Given the description of an element on the screen output the (x, y) to click on. 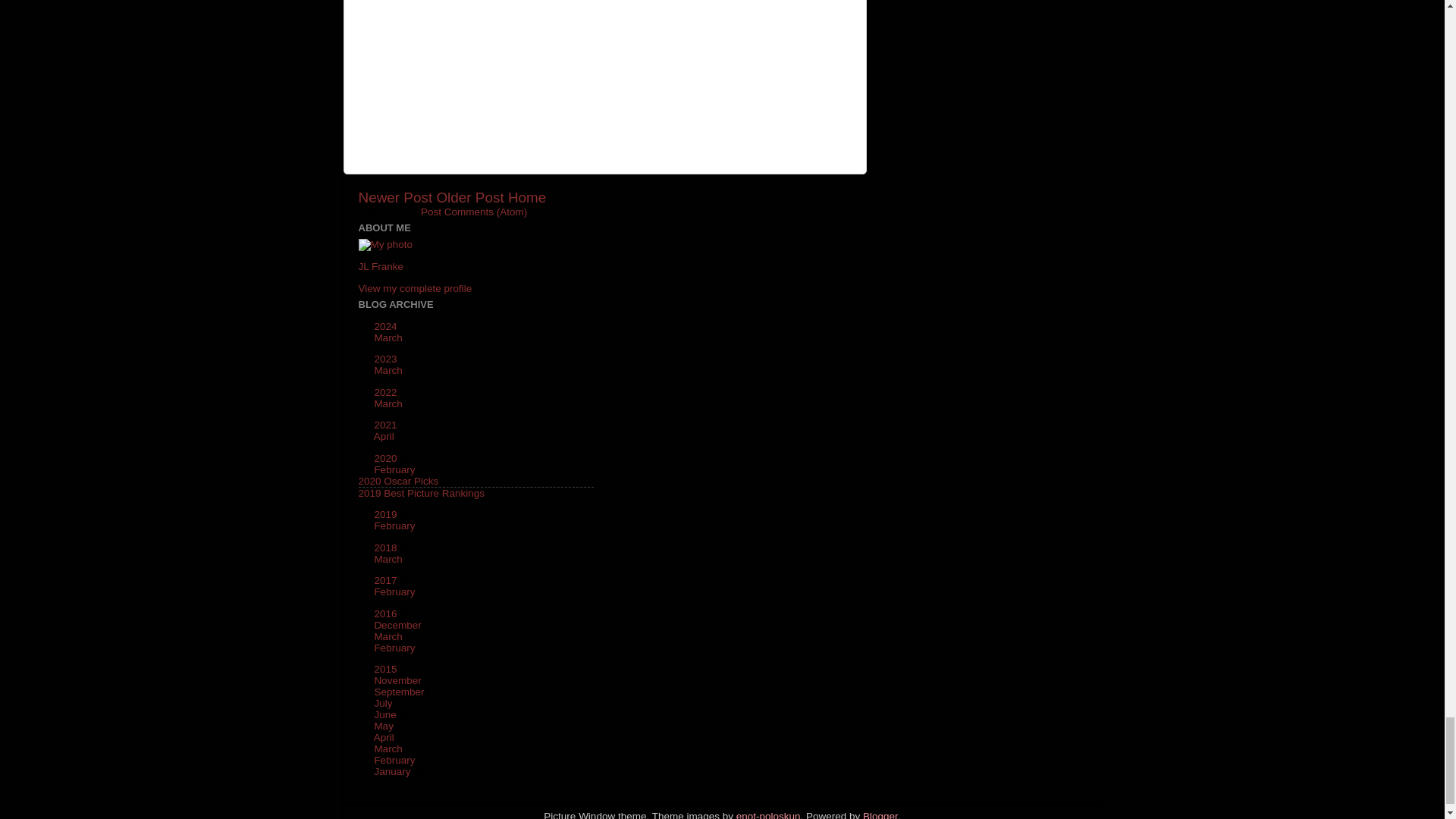
Home (527, 197)
March (389, 337)
Newer Post (395, 197)
2024 (386, 326)
Older Post (469, 197)
2022 (386, 392)
2023 (386, 358)
Newer Post (395, 197)
View my complete profile (414, 288)
March (389, 369)
JL Franke (380, 266)
Older Post (469, 197)
